Given the description of an element on the screen output the (x, y) to click on. 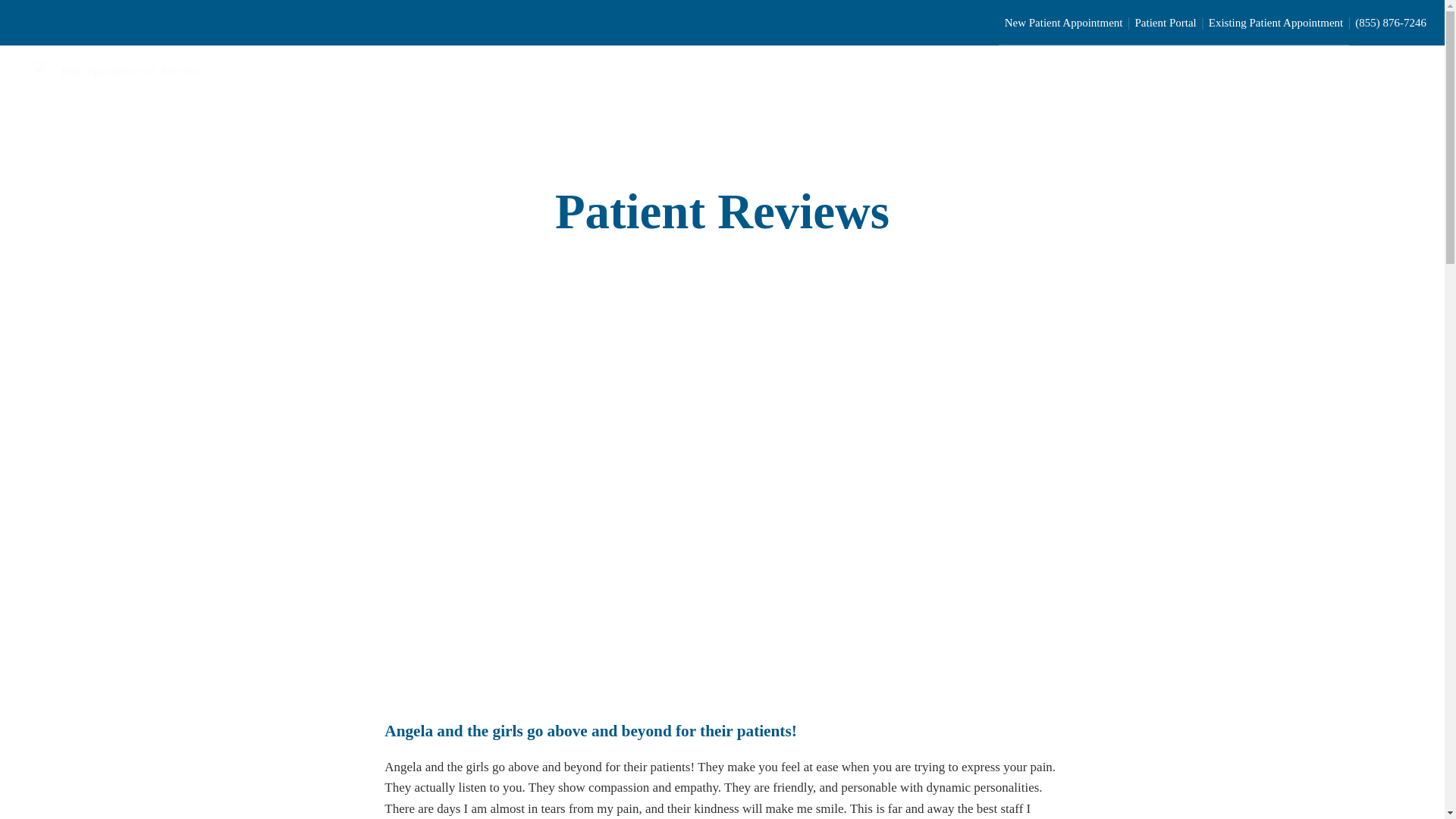
Existing Patient Appointment (1275, 22)
Patient Portal (1165, 22)
New Patient Appointment (1063, 22)
